Given the description of an element on the screen output the (x, y) to click on. 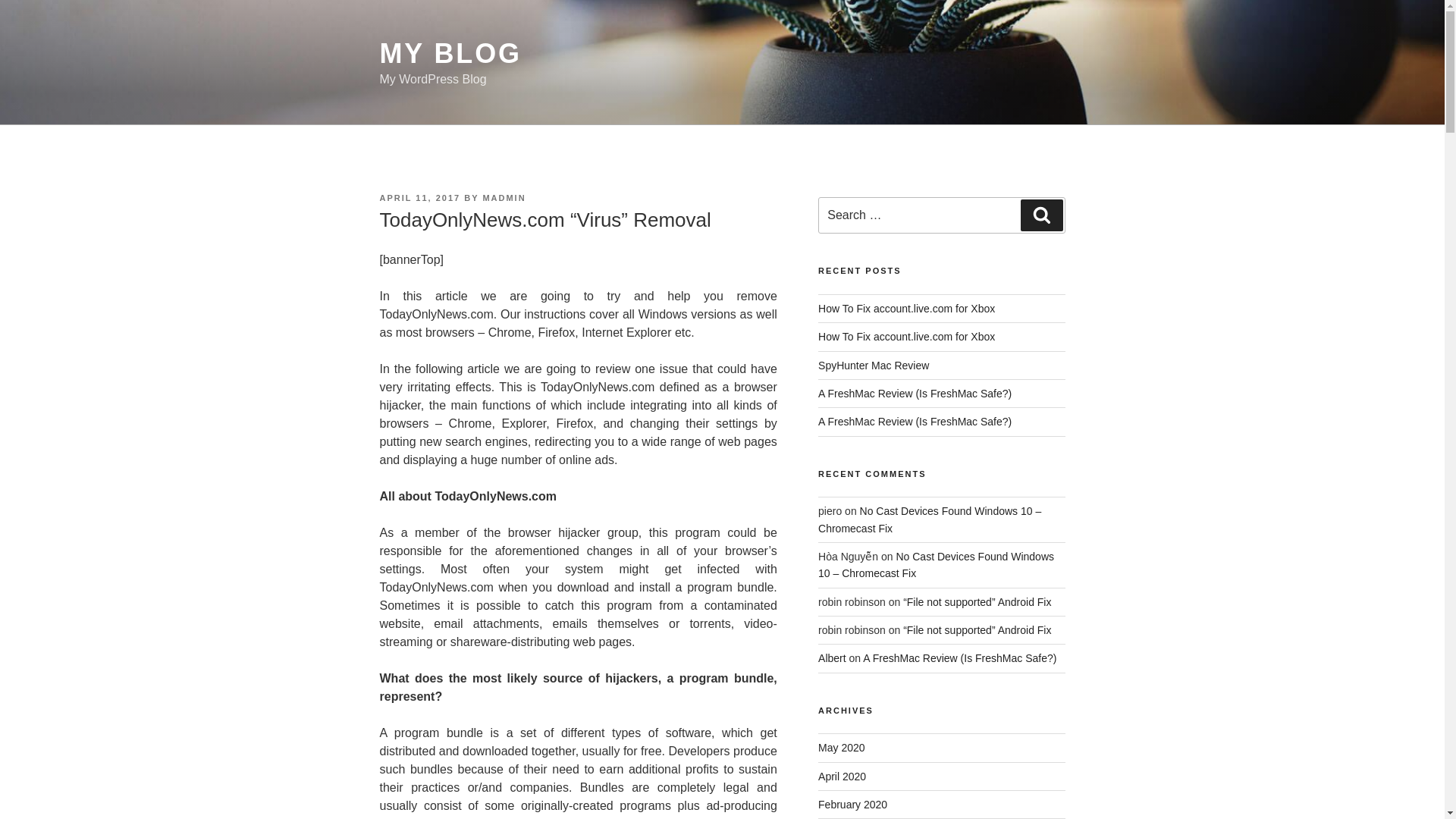
MADMIN (503, 197)
February 2020 (852, 804)
SpyHunter Mac Review (873, 365)
APRIL 11, 2017 (419, 197)
Search (1041, 214)
MY BLOG (449, 52)
May 2020 (841, 747)
How To Fix account.live.com for Xbox (906, 336)
April 2020 (842, 776)
How To Fix account.live.com for Xbox (906, 308)
Albert (831, 657)
